Given the description of an element on the screen output the (x, y) to click on. 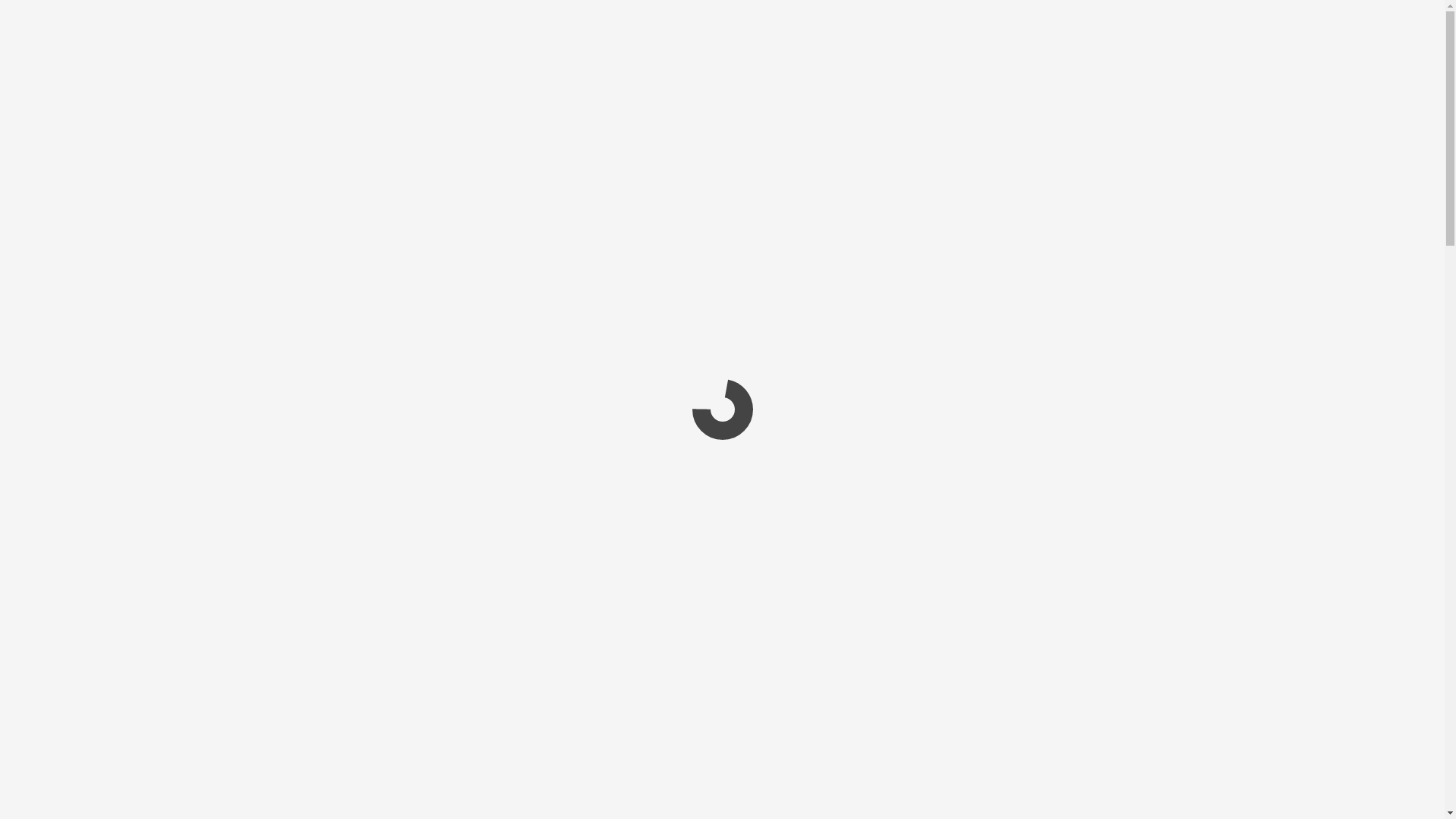
CONTACT Element type: text (1126, 17)
ACCESS Element type: text (1053, 17)
ARCHIVE Element type: text (922, 17)
TSUYAZAKI BASE CAMP Element type: text (393, 18)
How to Element type: text (1056, 147)
YOSHIHARA Element type: text (356, 589)
EVENT Element type: text (853, 17)
STORE Element type: text (990, 17)
CALENDAR Element type: text (730, 17)
